Given the description of an element on the screen output the (x, y) to click on. 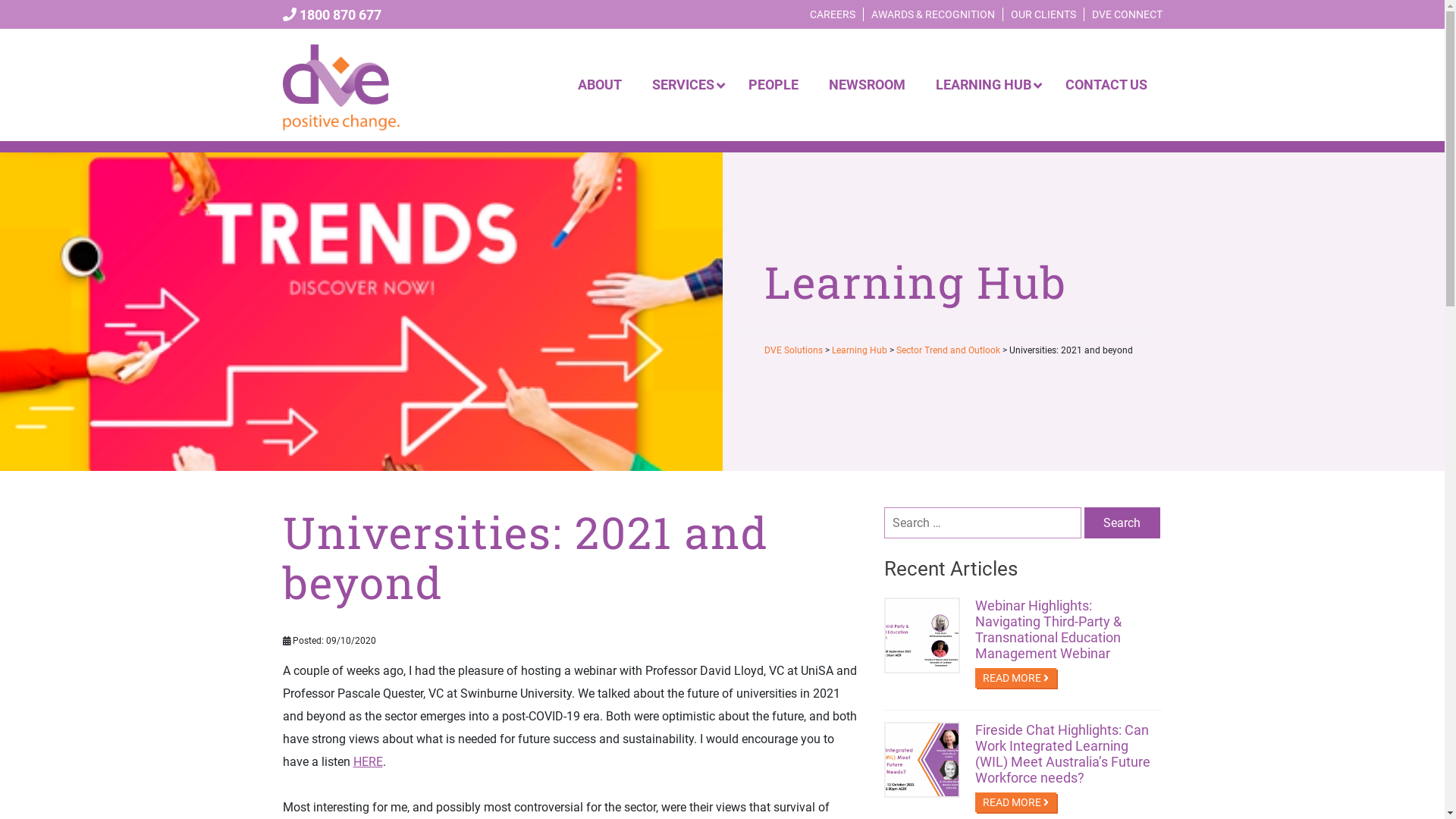
DVE Solutions Element type: text (793, 350)
Search for: Element type: hover (982, 522)
READ MORE Element type: text (1015, 677)
PEOPLE Element type: text (772, 84)
CAREERS Element type: text (832, 14)
SERVICES Element type: text (685, 84)
Sector Trend and Outlook Element type: text (948, 350)
AWARDS & RECOGNITION Element type: text (932, 14)
CONTACT US Element type: text (1105, 84)
LEARNING HUB Element type: text (985, 84)
DVE CONNECT Element type: text (1127, 14)
ABOUT Element type: text (599, 84)
READ MORE Element type: text (1015, 802)
HERE Element type: text (367, 761)
Search Element type: text (1122, 522)
NEWSROOM Element type: text (865, 84)
OUR CLIENTS Element type: text (1042, 14)
Learning Hub Element type: text (858, 350)
DVE Positive Change Element type: hover (341, 83)
1800 870 677 Element type: text (331, 14)
